Given the description of an element on the screen output the (x, y) to click on. 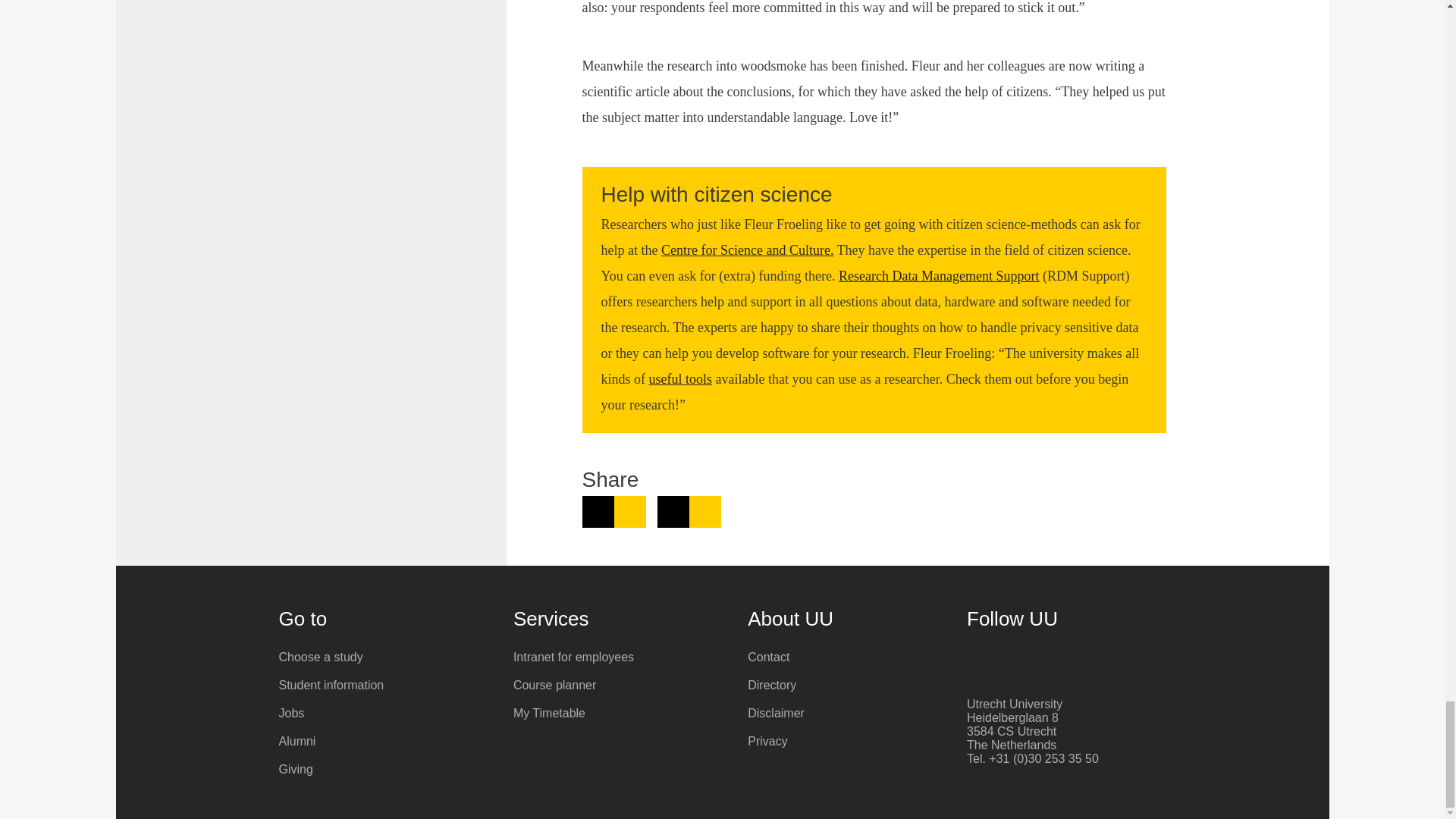
Share on Facebook (688, 511)
Centre for Science and Culture. (746, 249)
Research Data Management Support (938, 275)
Share on LinkedIn (614, 511)
Choose a study (384, 657)
Student information (384, 685)
Jobs (384, 713)
Share on LinkedIn (614, 511)
Share on Facebook (688, 511)
useful tools (681, 378)
